Given the description of an element on the screen output the (x, y) to click on. 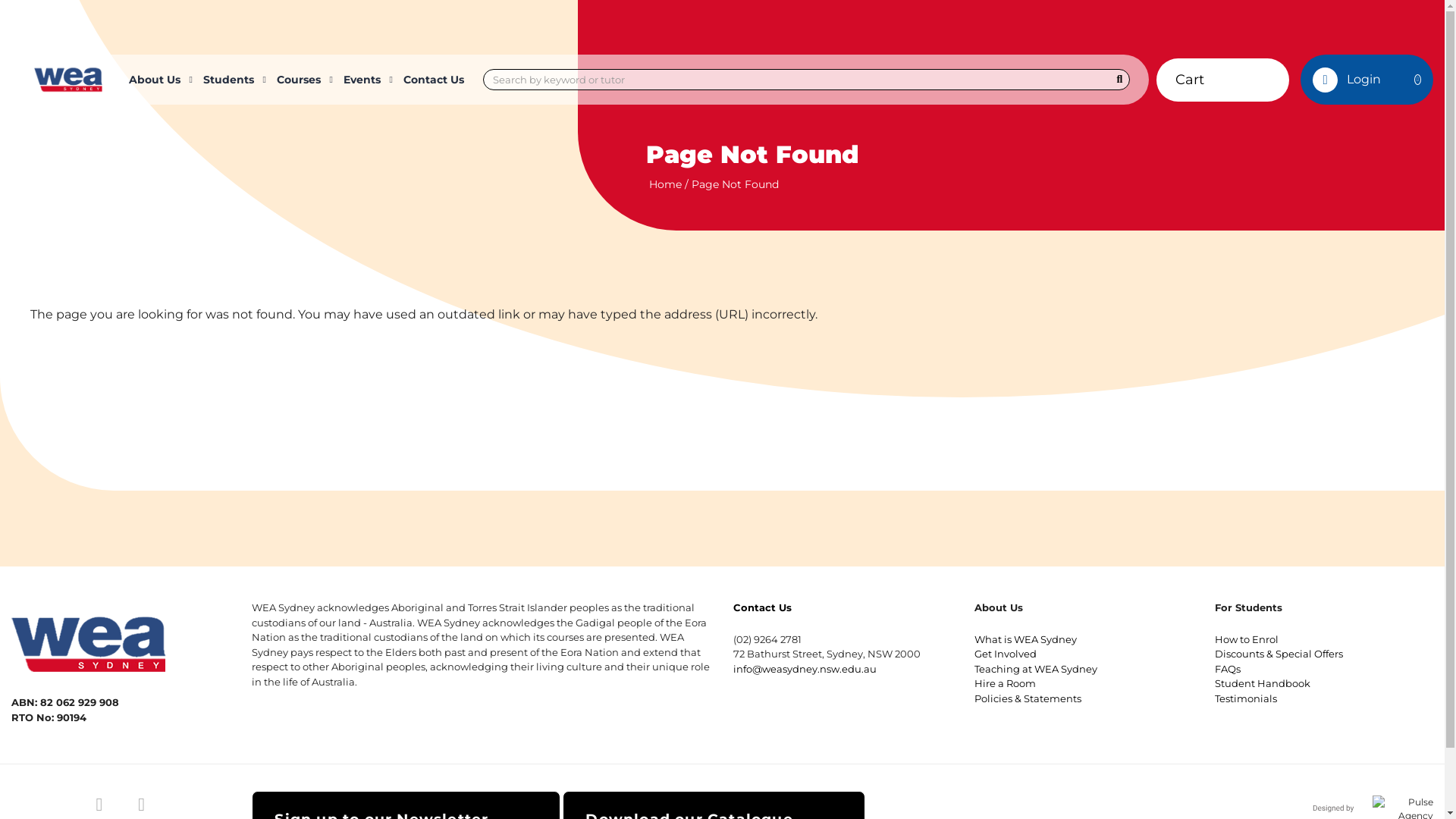
Students Element type: text (232, 79)
Events Element type: text (365, 79)
Hire a Room Element type: text (1004, 683)
Discounts & Special Offers Element type: text (1278, 653)
info@weasydney.nsw.edu.au Element type: text (804, 668)
Courses Element type: text (302, 79)
FAQs Element type: text (1227, 668)
About Us Element type: text (158, 79)
Contact Us Element type: text (762, 607)
Testimonials Element type: text (1245, 697)
What is WEA Sydney Element type: text (1025, 638)
Teaching at WEA Sydney Element type: text (1035, 668)
Policies & Statements Element type: text (1027, 697)
How to Enrol Element type: text (1246, 638)
Contact Us Element type: text (433, 79)
Student Handbook Element type: text (1262, 683)
Get Involved Element type: text (1005, 653)
Home Element type: text (665, 184)
